Given the description of an element on the screen output the (x, y) to click on. 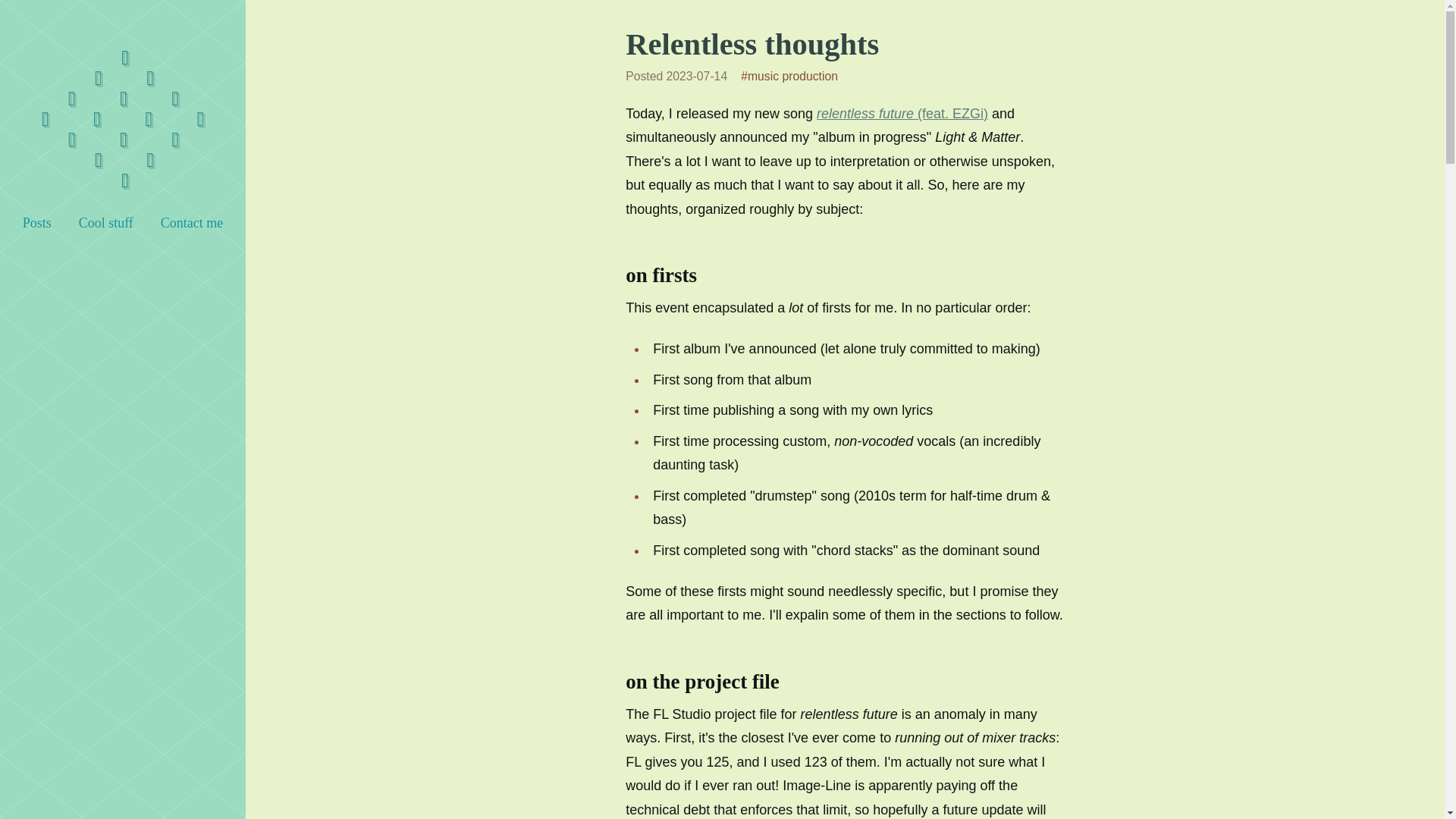
Contact me (192, 222)
Cool stuff (105, 222)
Return home (122, 119)
Posts (37, 222)
